Given the description of an element on the screen output the (x, y) to click on. 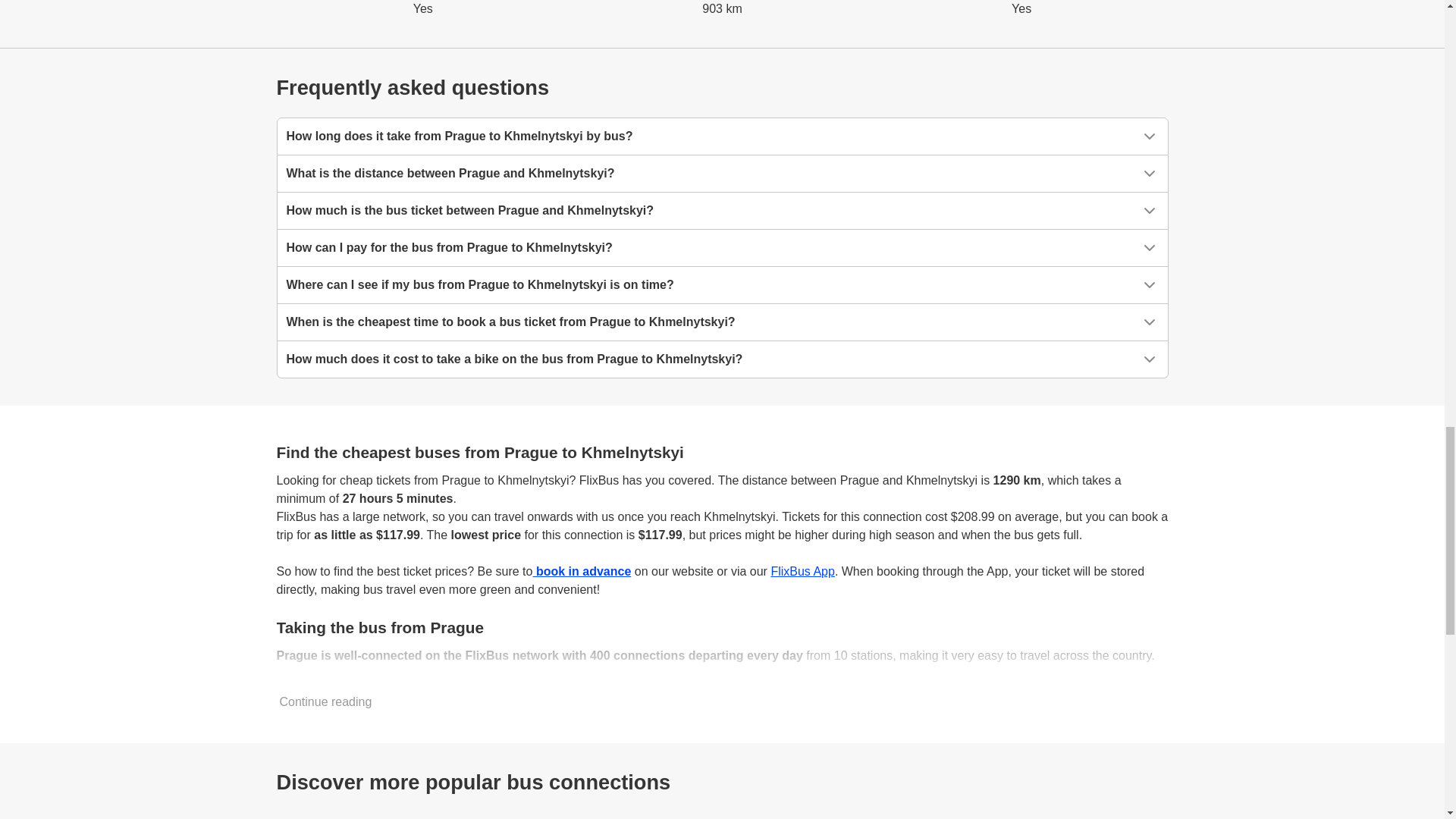
FlixBus App (802, 571)
book in advance (581, 571)
